Given the description of an element on the screen output the (x, y) to click on. 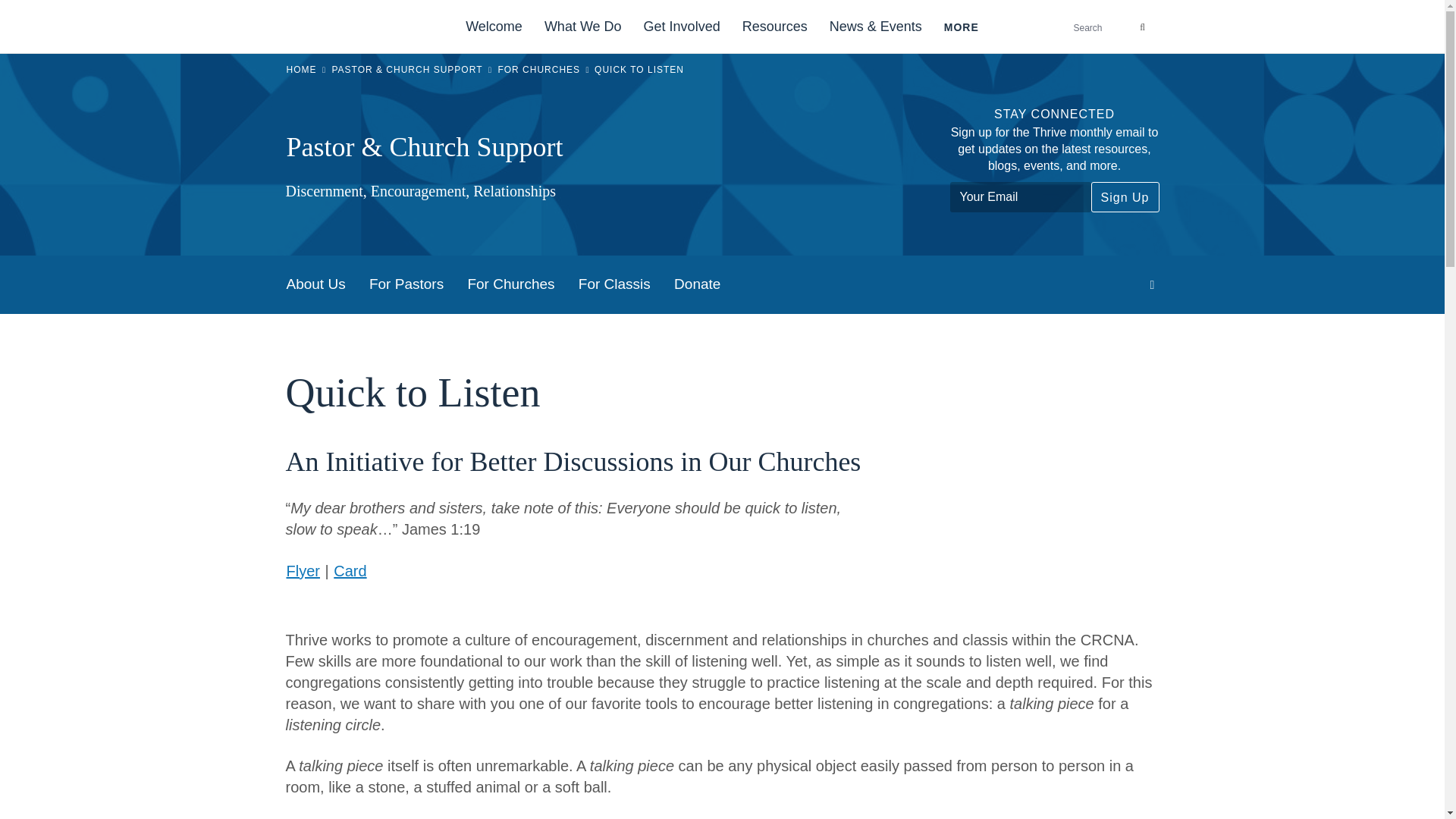
Search (1141, 27)
FOR CHURCHES (538, 69)
Search (1141, 27)
For Pastors (406, 284)
Get Involved (681, 27)
Sign Up (1124, 196)
Quick to Listen Flyer (302, 570)
Sign Up (1124, 196)
Home (325, 26)
Card (349, 570)
Quick to Listen (1019, 523)
What We Do (582, 27)
Enter the terms you wish to search for. (1112, 27)
For Classis (614, 284)
